Given the description of an element on the screen output the (x, y) to click on. 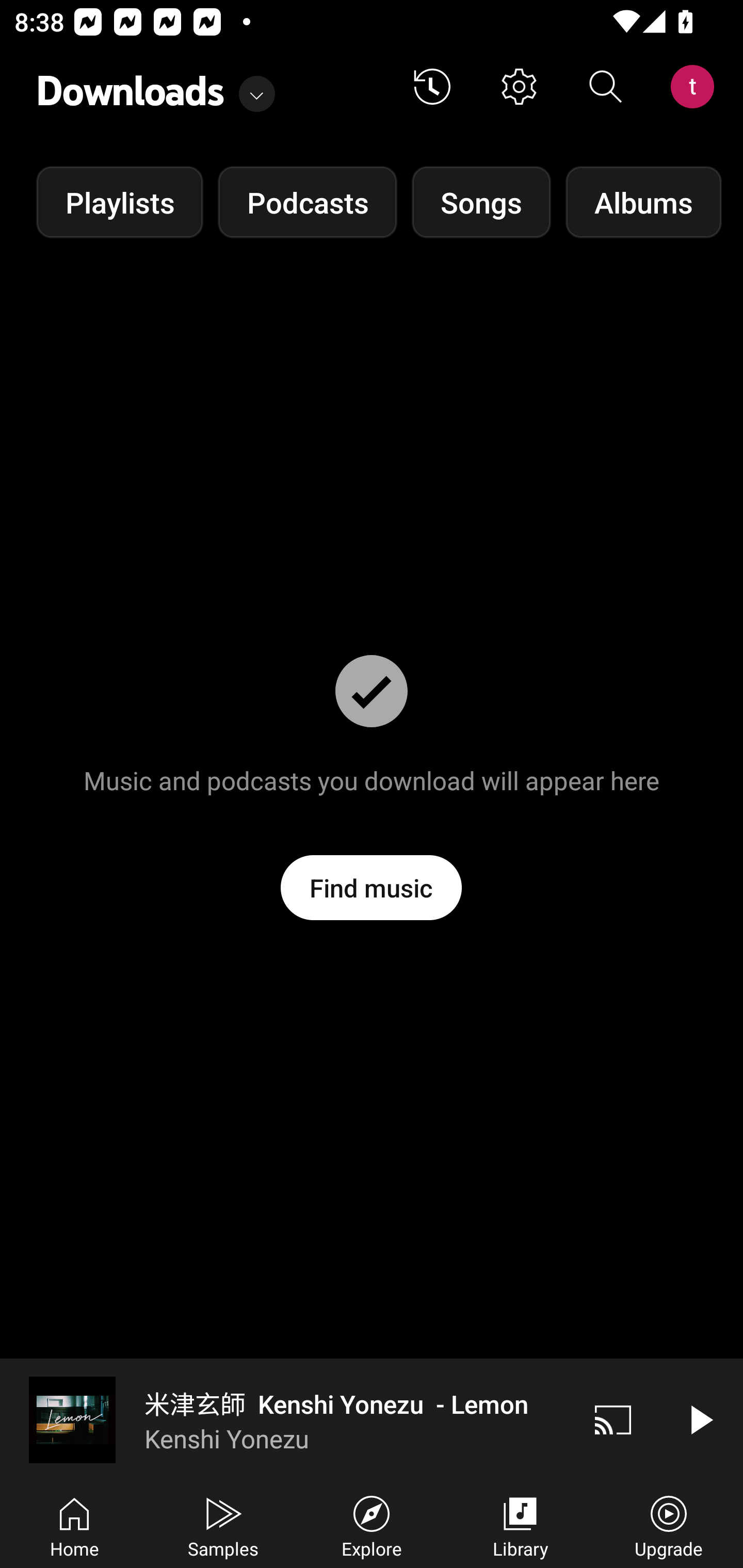
Show downloads selected Downloads (155, 86)
History (432, 86)
Downloads settings (518, 86)
Search (605, 86)
Account (696, 86)
Find music (371, 887)
米津玄師  Kenshi Yonezu  - Lemon Kenshi Yonezu (284, 1419)
Cast. Disconnected (612, 1419)
Play video (699, 1419)
Home (74, 1524)
Samples (222, 1524)
Explore (371, 1524)
Upgrade (668, 1524)
